Given the description of an element on the screen output the (x, y) to click on. 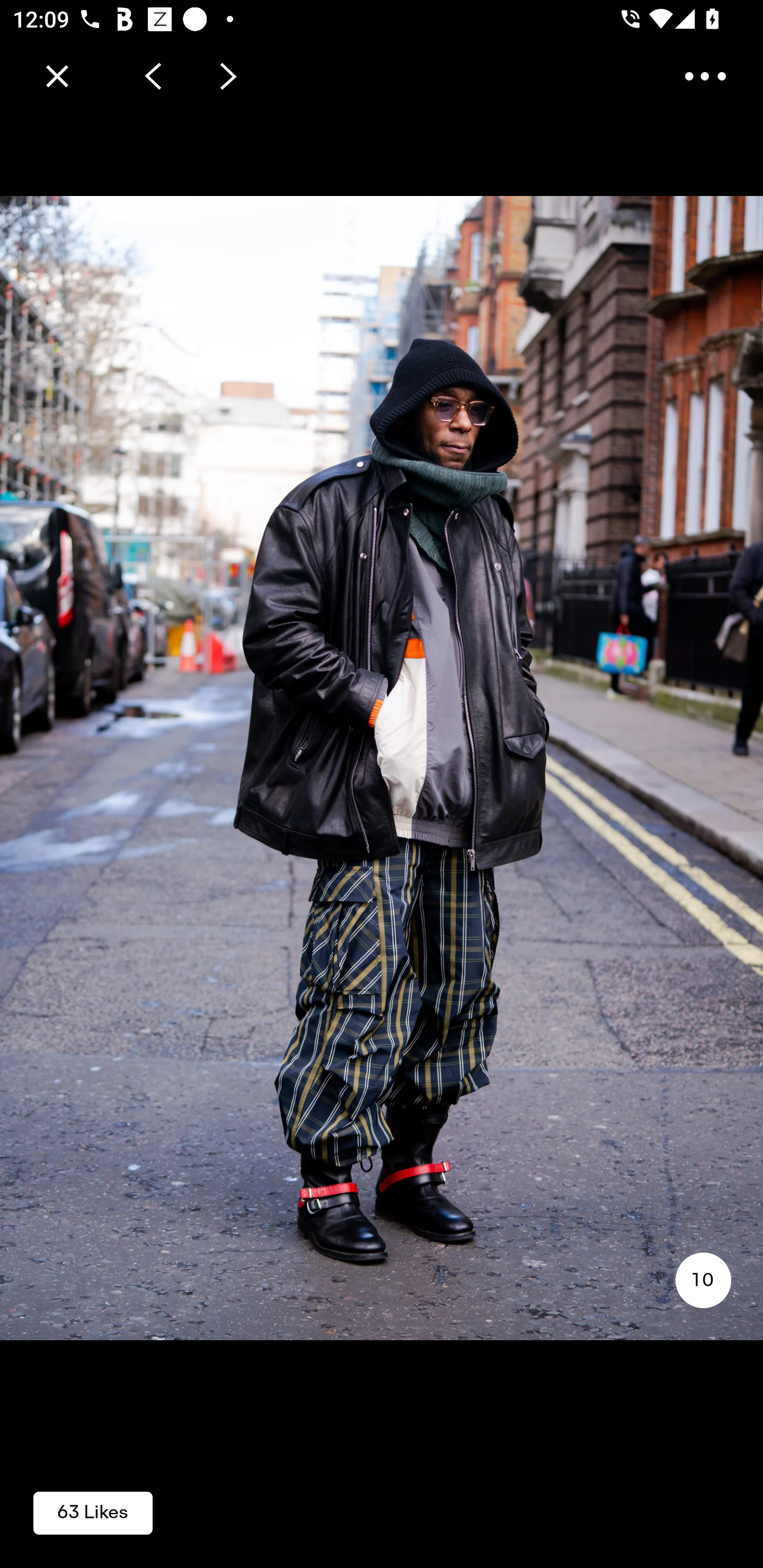
10 (702, 1279)
63 Likes (93, 1512)
